Given the description of an element on the screen output the (x, y) to click on. 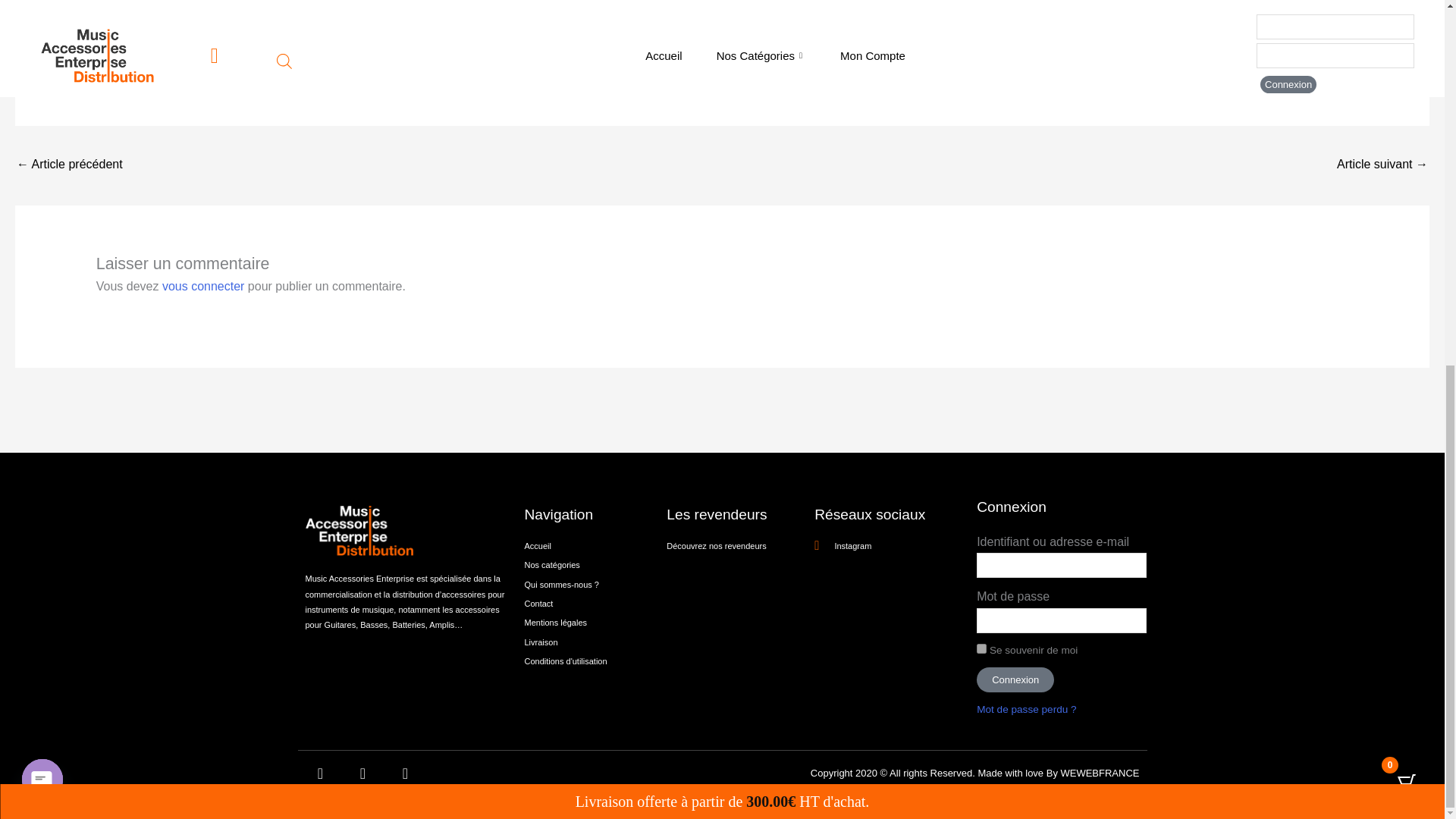
forever (981, 648)
VDR Innovative Concepts (69, 165)
Chinese dating etiquette and traditions (1382, 165)
